Given the description of an element on the screen output the (x, y) to click on. 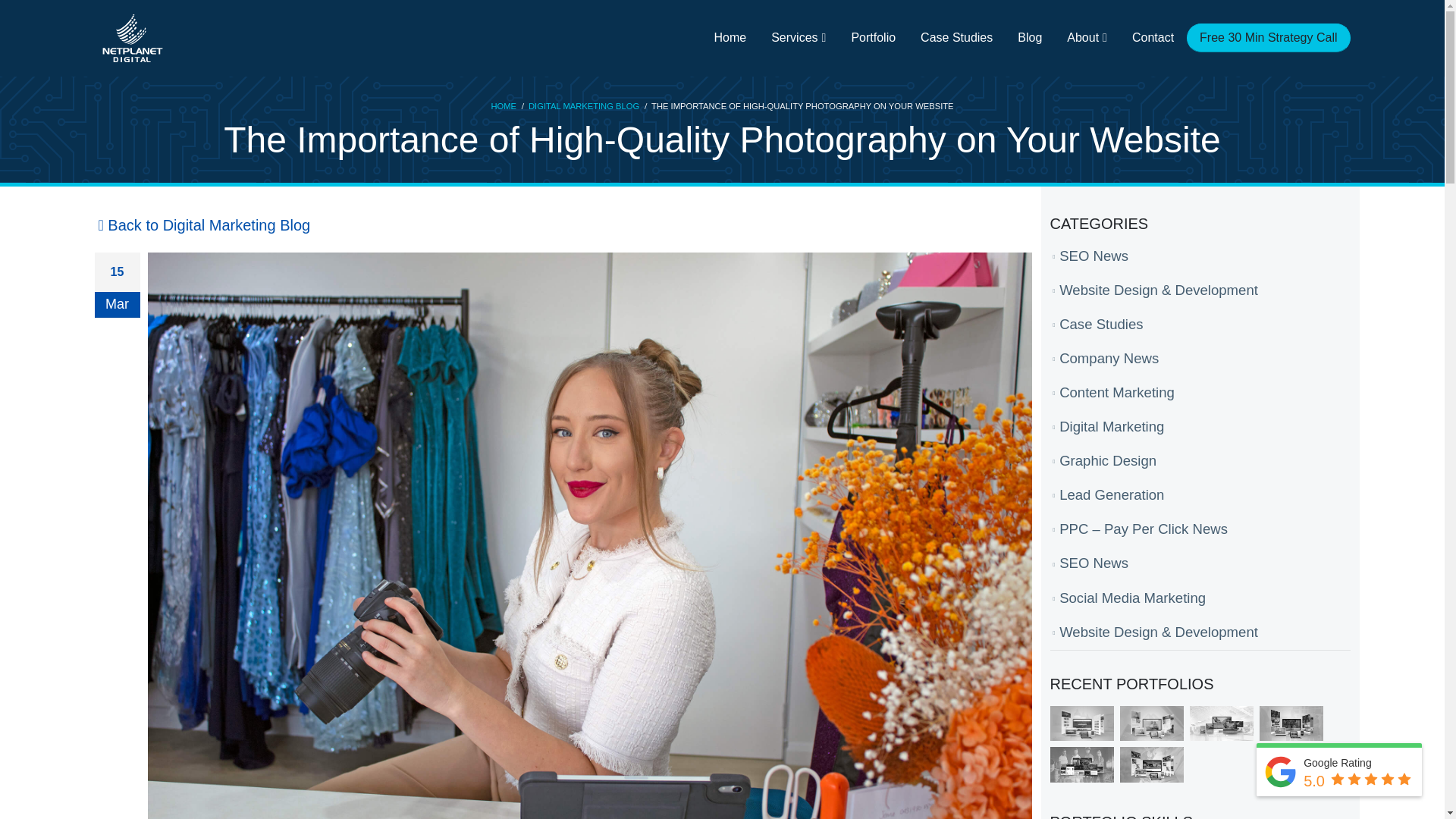
Netplanet Digital - Digital Marketing Agency in Sydney (132, 38)
HOME (503, 105)
Blog (1030, 37)
About (1086, 37)
DIGITAL MARKETING BLOG (583, 105)
About (1086, 37)
Portfolio (872, 37)
Back to Digital Marketing Blog (202, 224)
Case Studies (956, 37)
Home (729, 37)
